Given the description of an element on the screen output the (x, y) to click on. 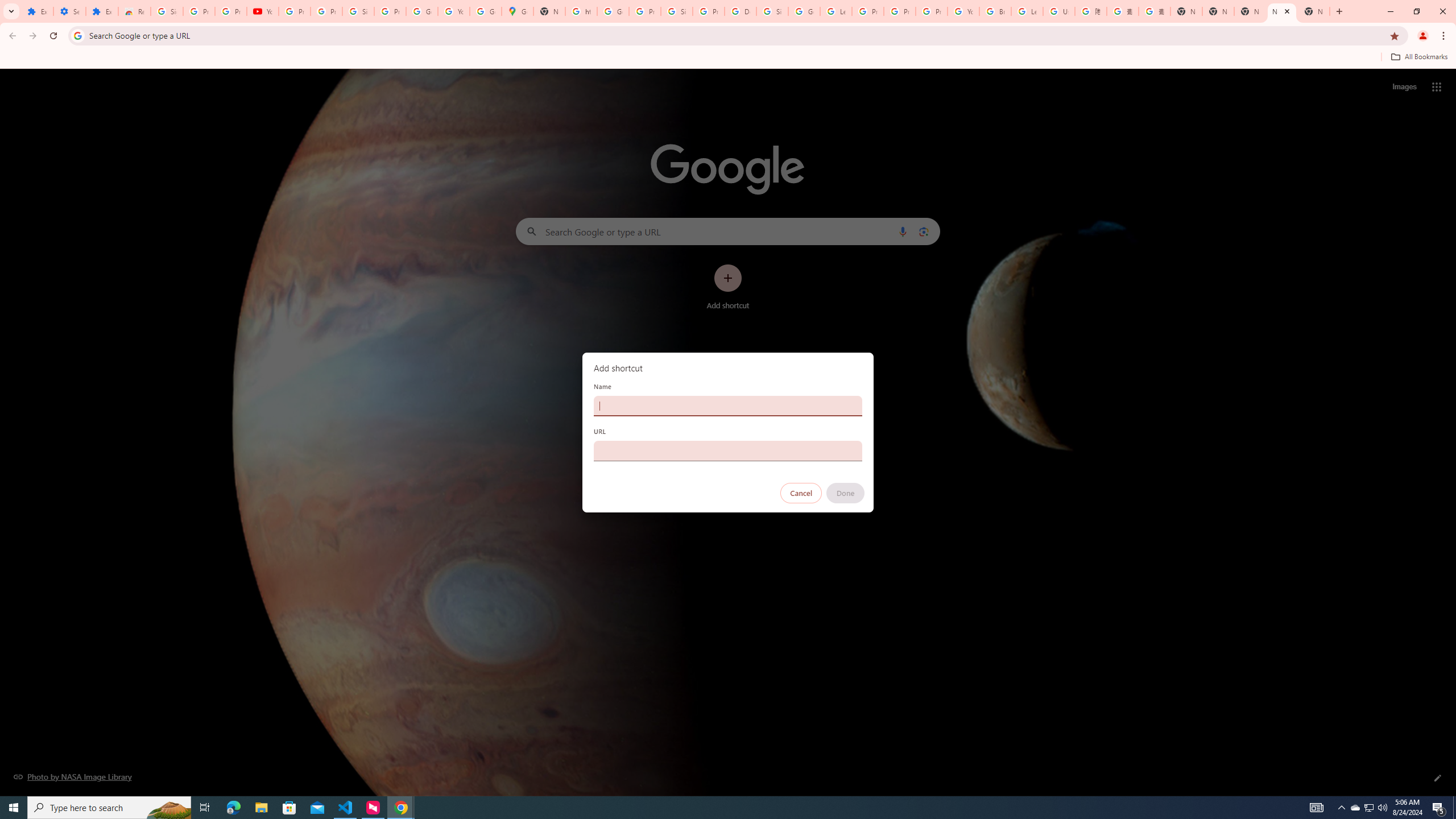
Delete specific Google services or your Google Account (740, 11)
https://scholar.google.com/ (581, 11)
New Tab (1185, 11)
Sign in - Google Accounts (772, 11)
Privacy Help Center - Policies Help (868, 11)
YouTube (963, 11)
Sign in - Google Accounts (358, 11)
